Given the description of an element on the screen output the (x, y) to click on. 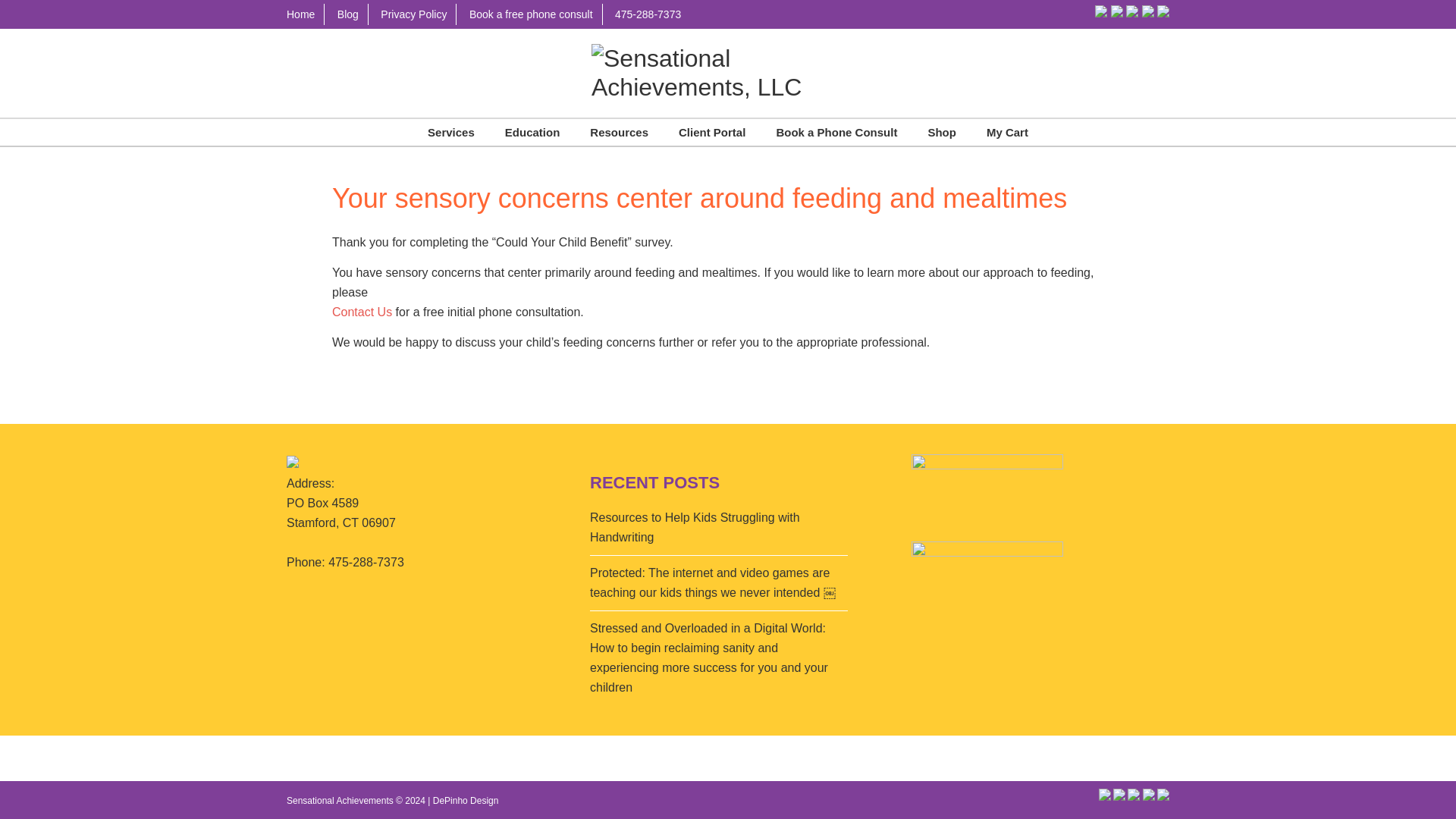
Sensational Achievements, LLC (727, 73)
Education (532, 131)
Privacy Policy (414, 14)
Sensational Achievements, LLC (727, 58)
Home (305, 14)
Services (450, 131)
Book a free phone consult (531, 14)
Blog (348, 14)
475-288-7373 (647, 14)
